Given the description of an element on the screen output the (x, y) to click on. 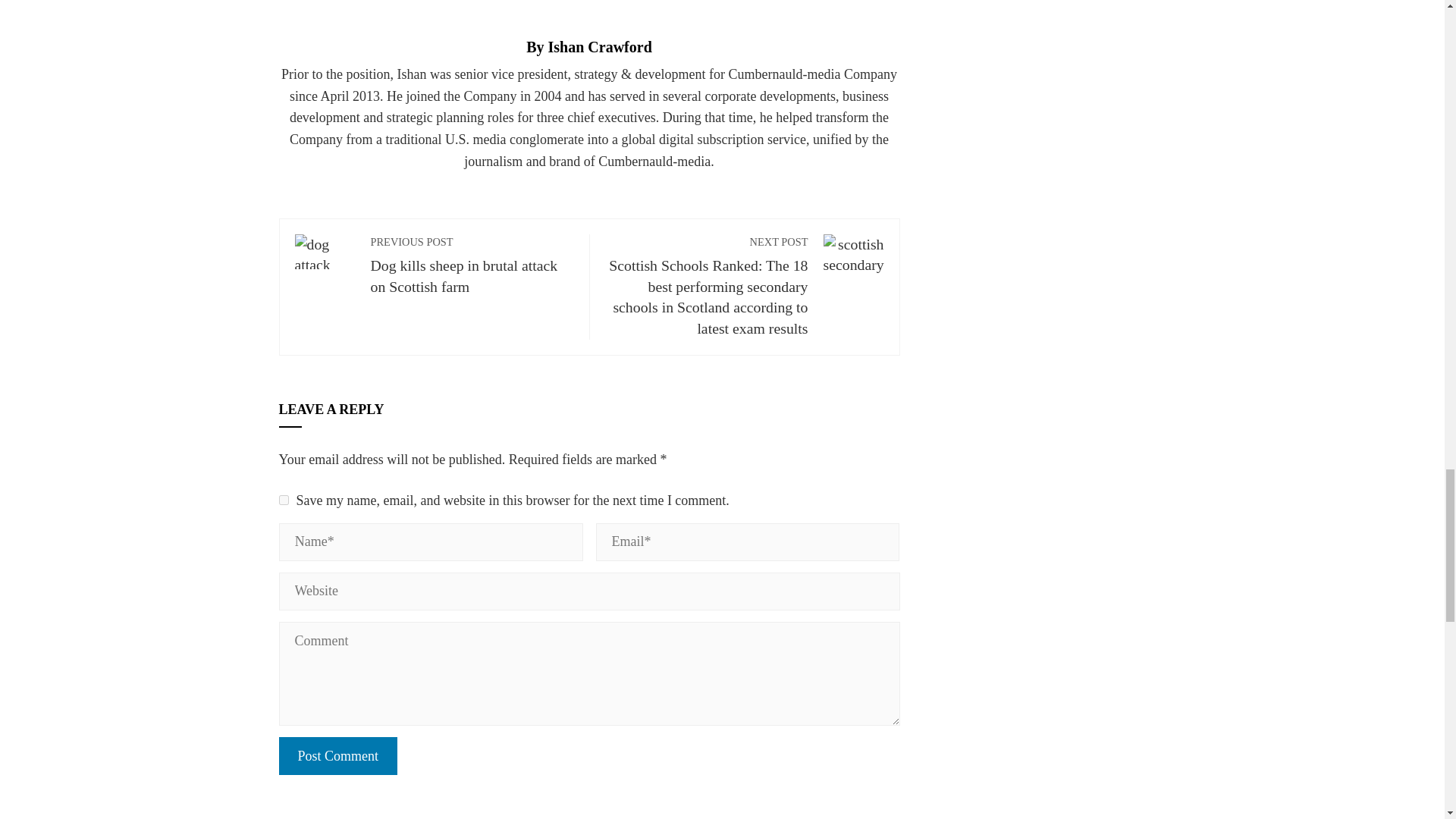
Post Comment (338, 755)
Post Comment (338, 755)
yes (283, 500)
